Given the description of an element on the screen output the (x, y) to click on. 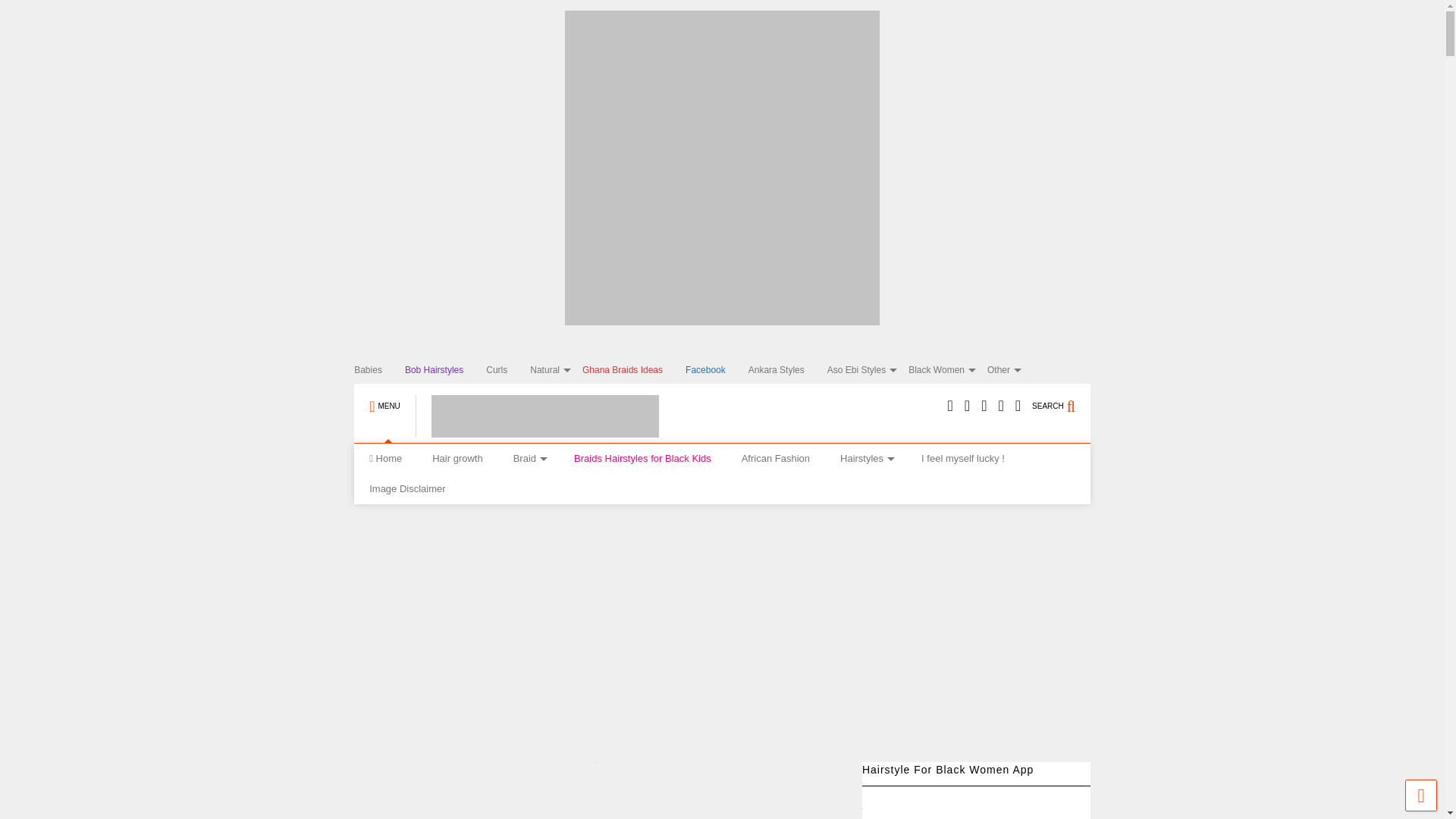
Ankara Styles (787, 370)
Black Women (947, 370)
Babies (378, 370)
Bob Hairstyles (445, 370)
Advertisement (648, 794)
Natural (555, 370)
Other (1009, 370)
Hairstyle For Women (536, 430)
Aso Ebi Styles (867, 370)
